Given the description of an element on the screen output the (x, y) to click on. 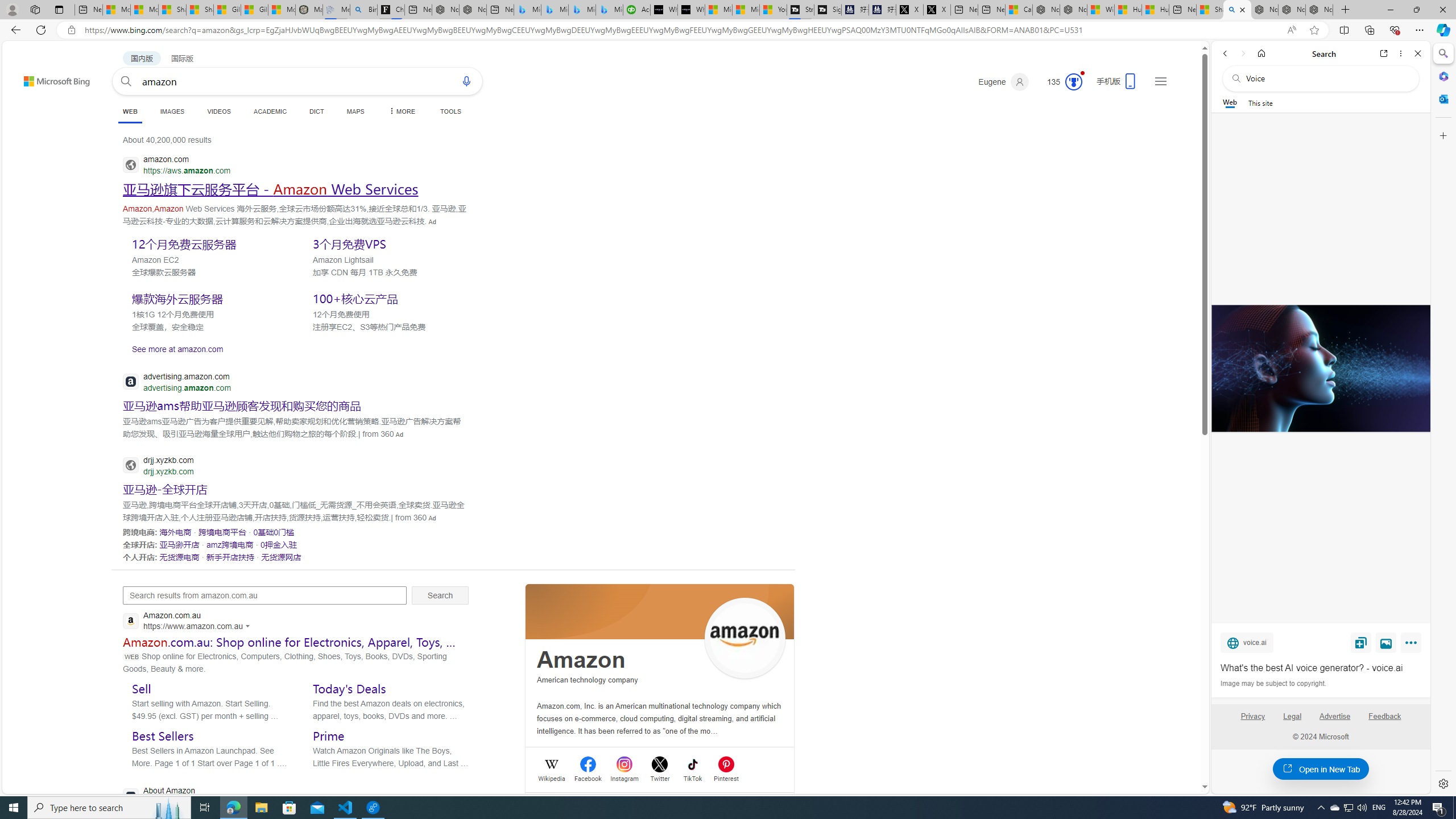
Privacy (1252, 720)
Tab actions menu (58, 9)
Pinterest (726, 777)
Personal Profile (12, 9)
Microsoft 365 (1442, 76)
Class: medal-svg-animation (1073, 81)
Search the web (1326, 78)
VIDEOS (218, 111)
Restore (1416, 9)
Search using voice (465, 80)
SERP,5551 (388, 243)
